Given the description of an element on the screen output the (x, y) to click on. 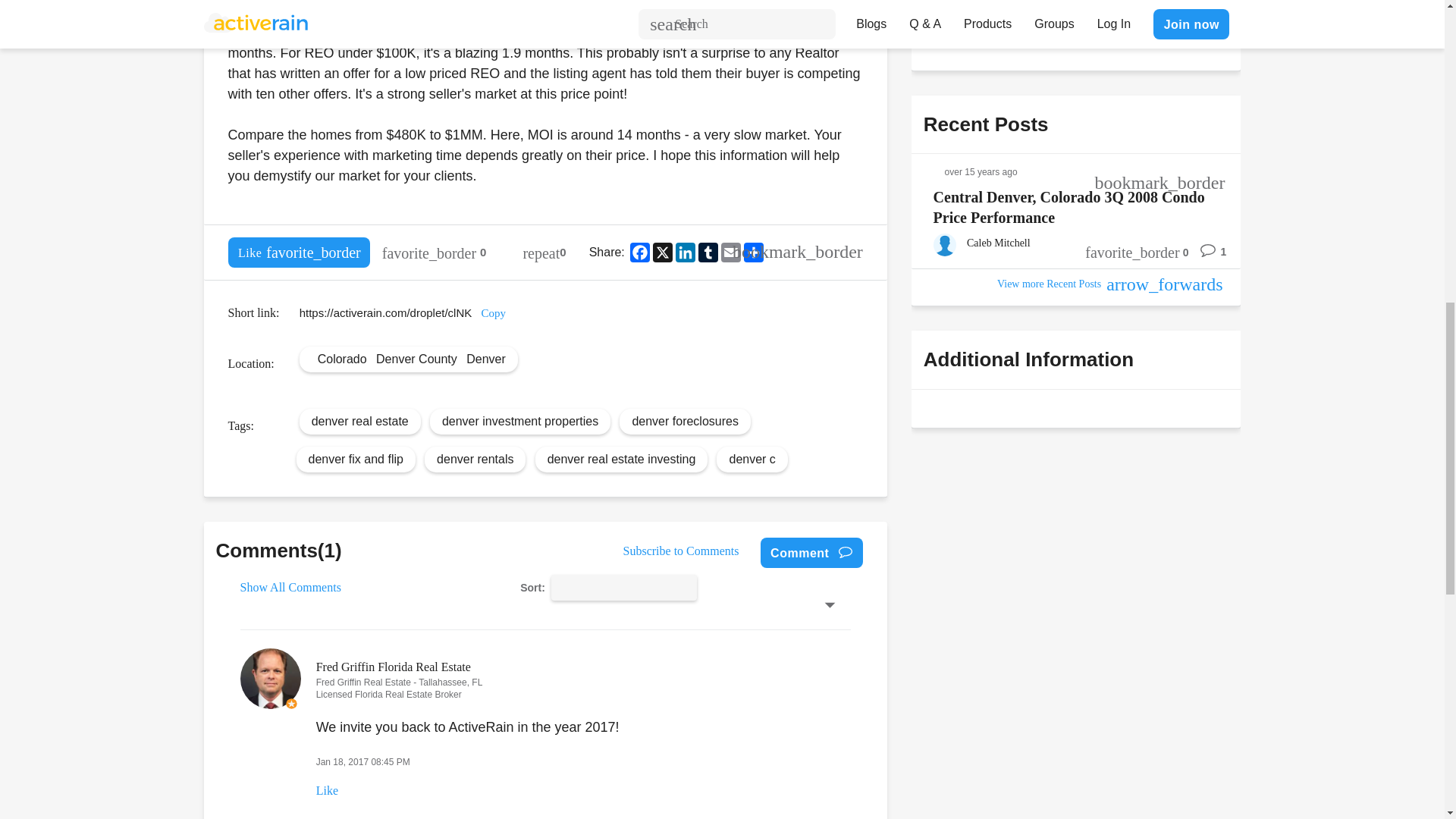
Copy (492, 313)
Share (753, 252)
Colorado (341, 358)
Email (730, 252)
LinkedIn (685, 252)
Denver County (416, 358)
denver real estate (360, 420)
Tumblr (708, 252)
This entry hasn't been re-blogged (544, 252)
Facebook (639, 252)
repeat 0 (544, 252)
X (662, 252)
Send Message (978, 30)
Denver (485, 358)
